Given the description of an element on the screen output the (x, y) to click on. 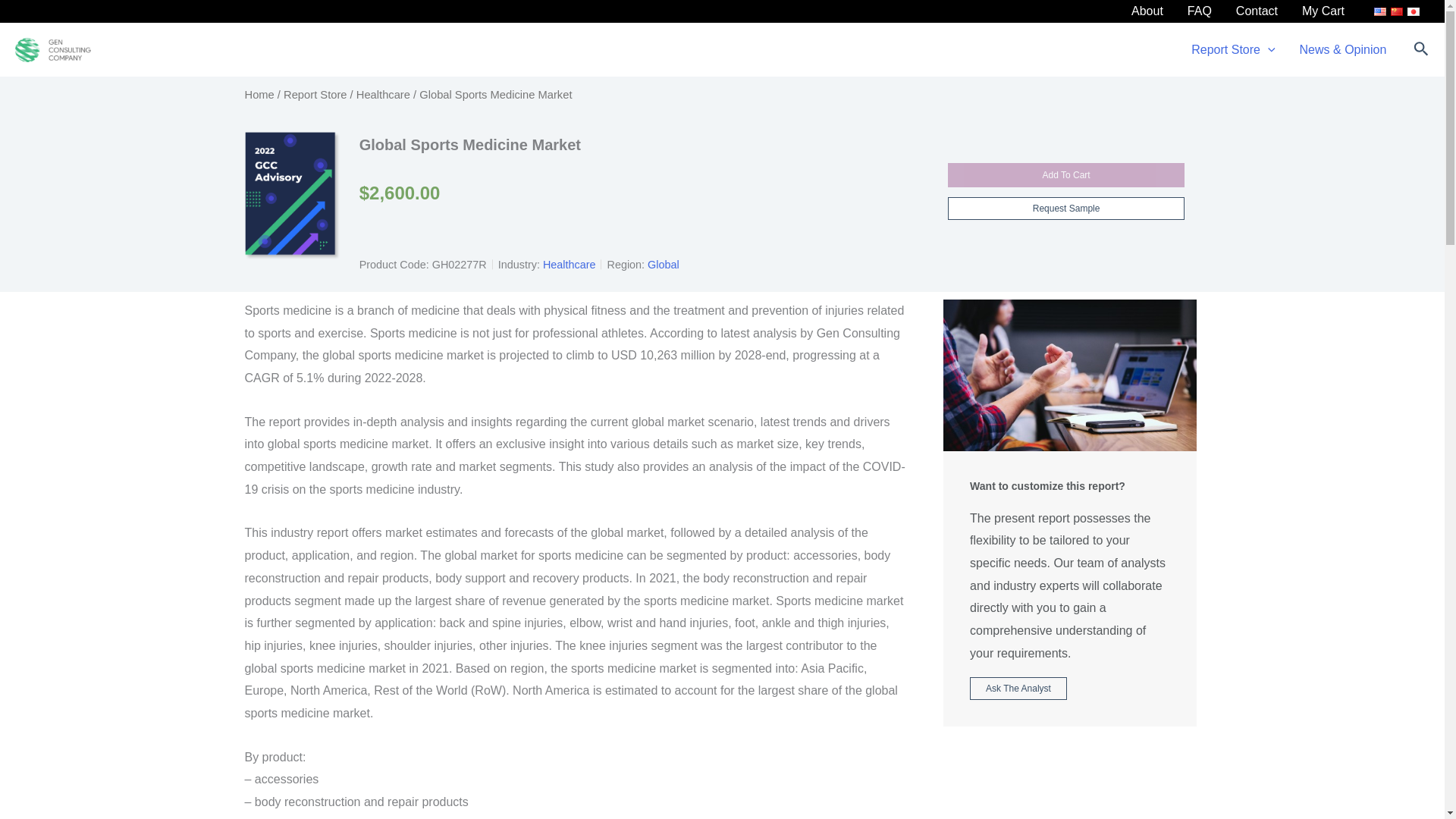
Report Store (1233, 49)
About (1146, 11)
English (1380, 10)
FAQ (1199, 11)
Global (663, 264)
Home (258, 94)
Contact (1257, 11)
Healthcare (569, 264)
My Cart (1323, 11)
Healthcare (383, 94)
Report Store (314, 94)
Add To Cart (1066, 174)
